Given the description of an element on the screen output the (x, y) to click on. 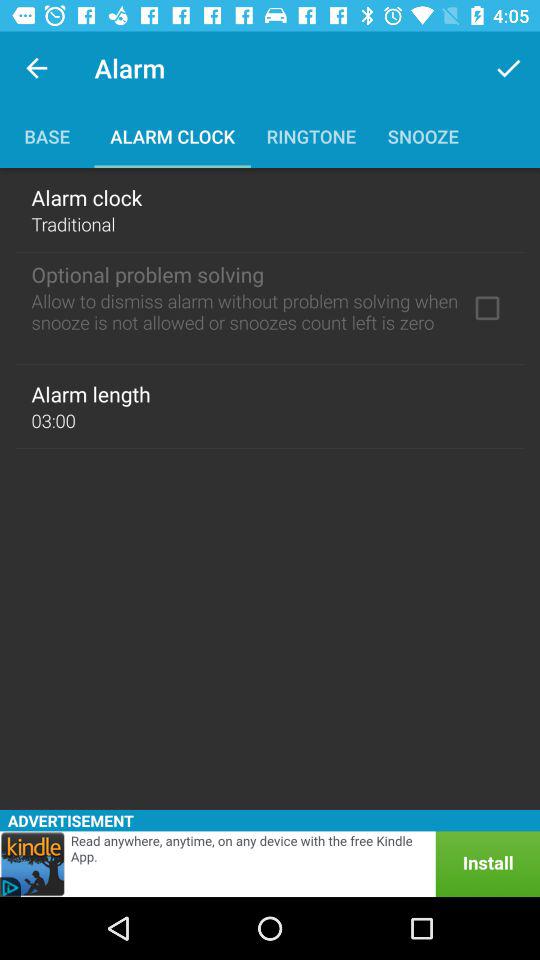
turn off the icon above the base (36, 68)
